Given the description of an element on the screen output the (x, y) to click on. 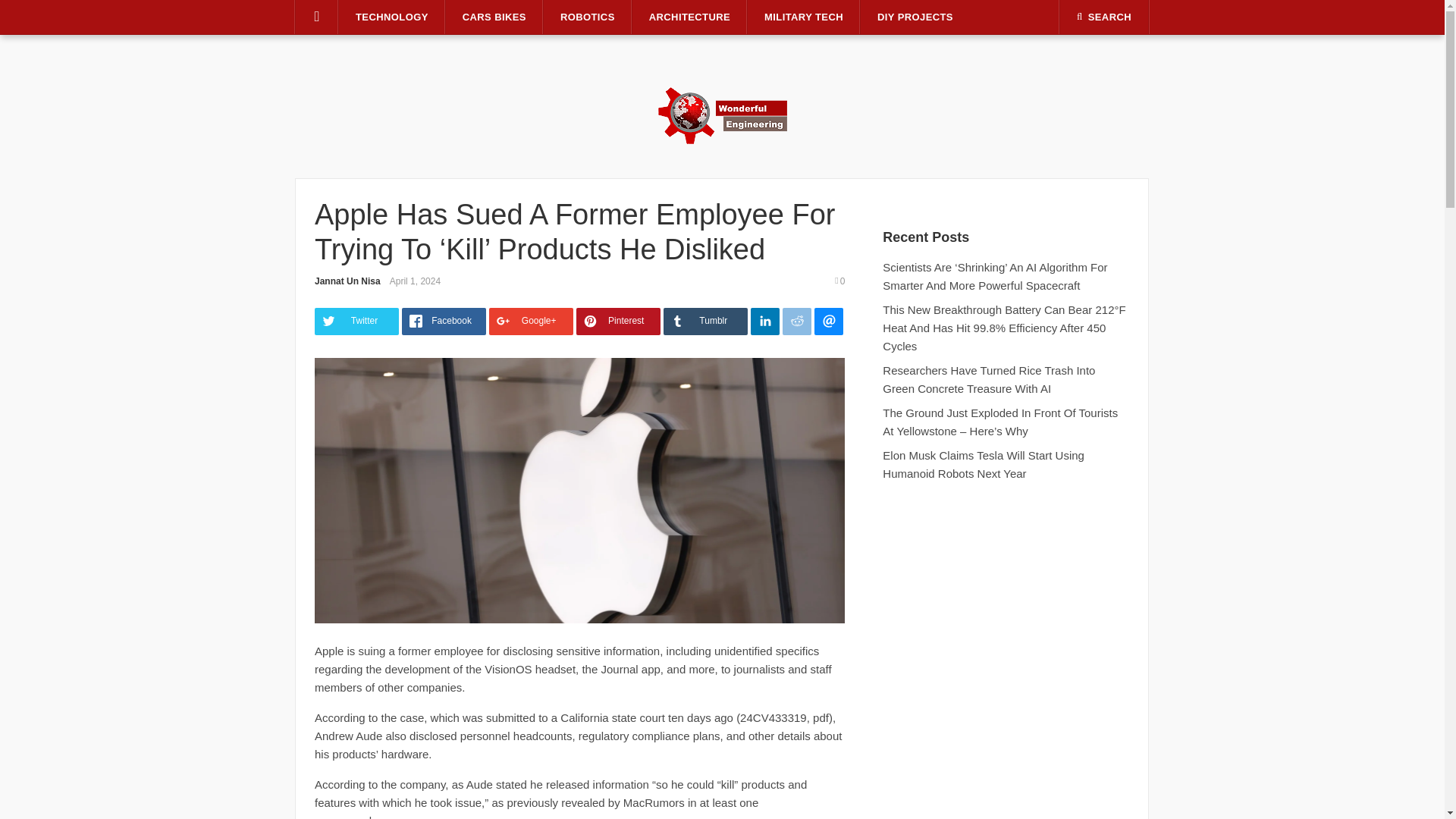
CARS BIKES (494, 17)
TECHNOLOGY (392, 17)
Facebook (443, 320)
Twitter (356, 320)
MILITARY TECH (804, 17)
Wonderful Engineering (722, 113)
Tumblr (705, 320)
Pinterest (618, 320)
SEARCH (1104, 16)
ROBOTICS (587, 17)
DIY PROJECTS (914, 17)
ARCHITECTURE (688, 17)
Jannat Un Nisa (347, 281)
